Given the description of an element on the screen output the (x, y) to click on. 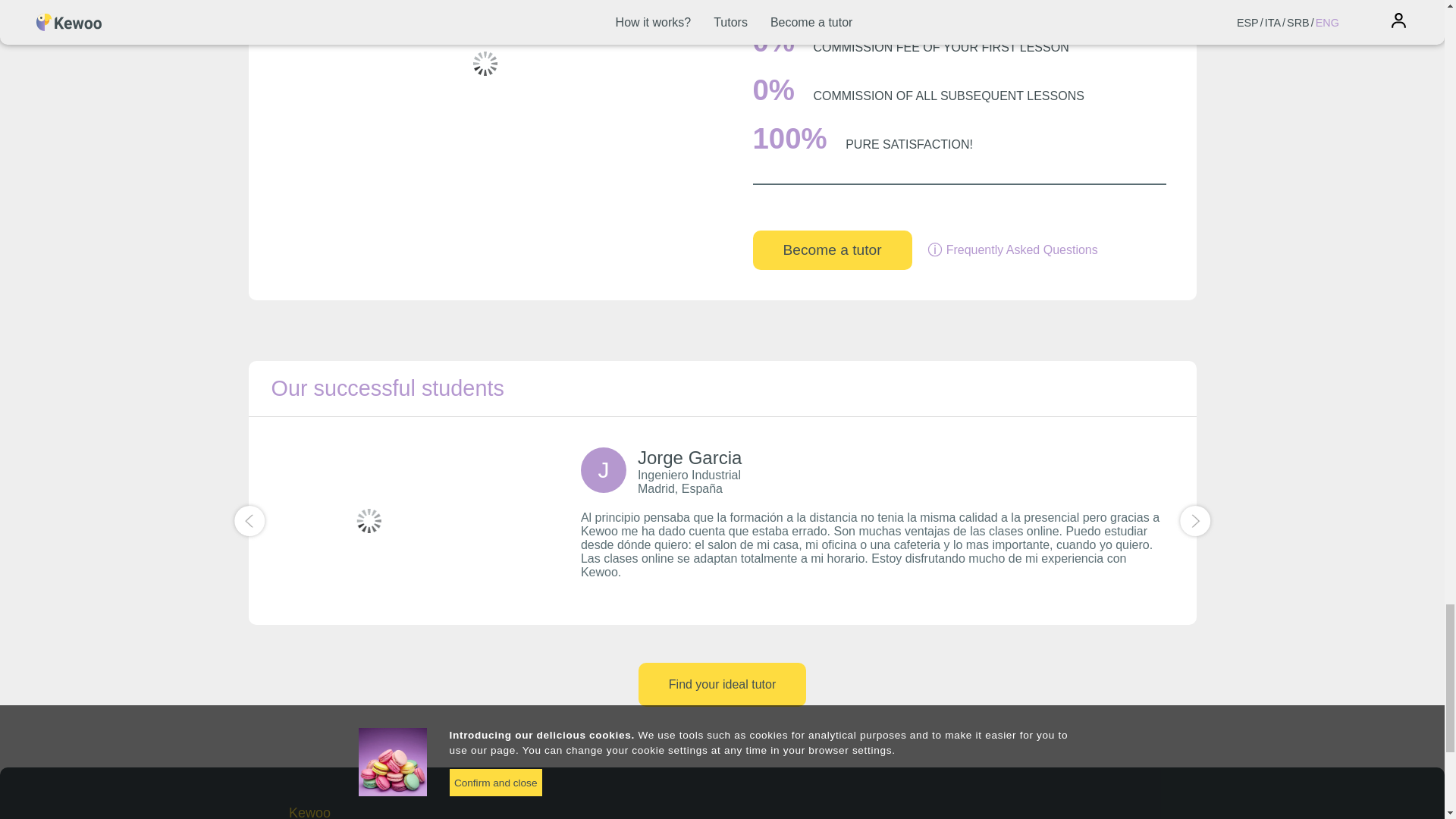
Frequently Asked Questions (1012, 249)
Find your ideal tutor (722, 684)
Become a tutor (831, 250)
